Given the description of an element on the screen output the (x, y) to click on. 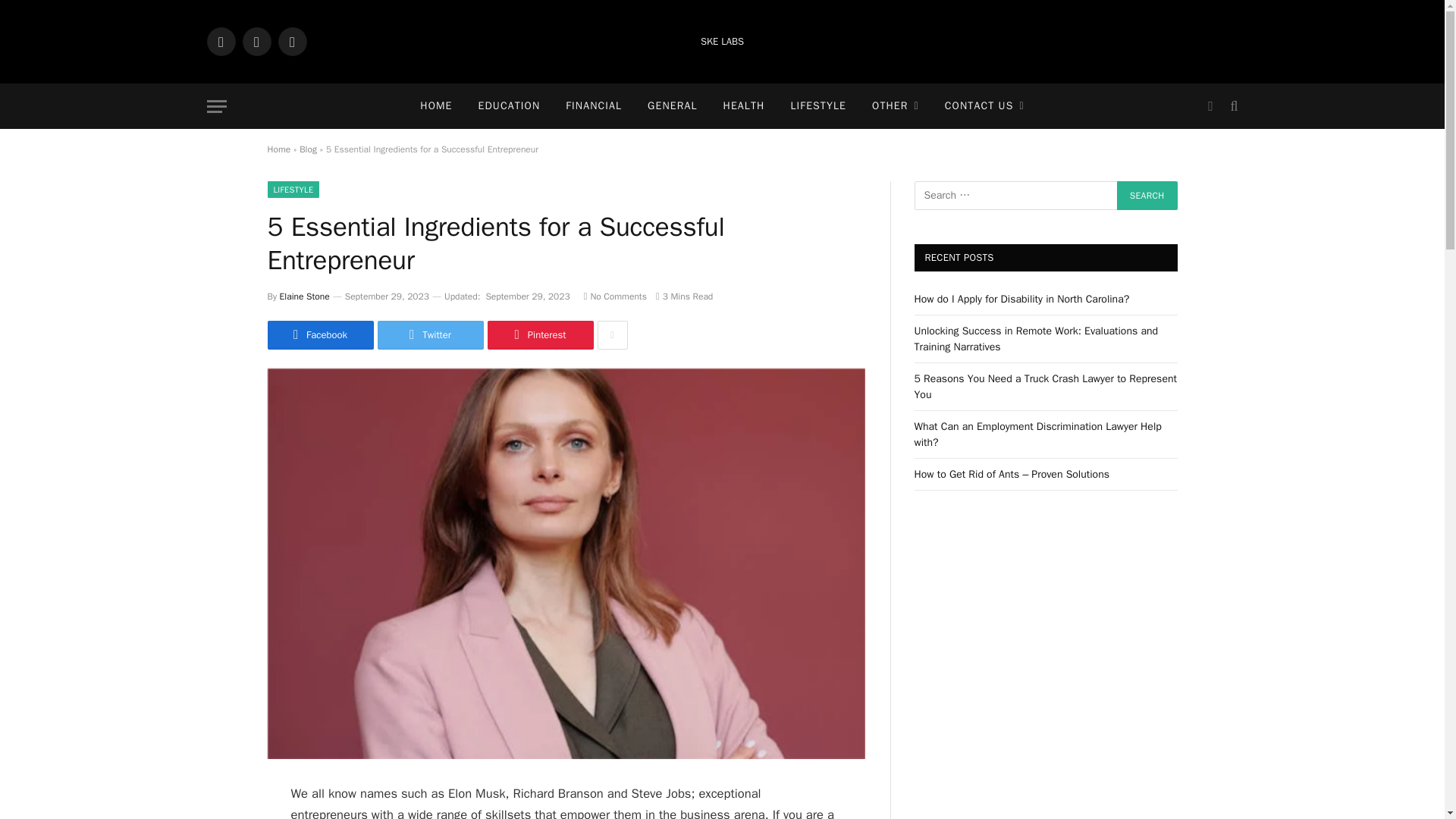
Instagram (291, 41)
HEALTH (743, 105)
Elaine Stone (304, 296)
Posts by Elaine Stone (304, 296)
Home (277, 149)
LIFESTYLE (292, 189)
No Comments (614, 296)
HOME (435, 105)
Show More Social Sharing (611, 335)
Blog (308, 149)
